Given the description of an element on the screen output the (x, y) to click on. 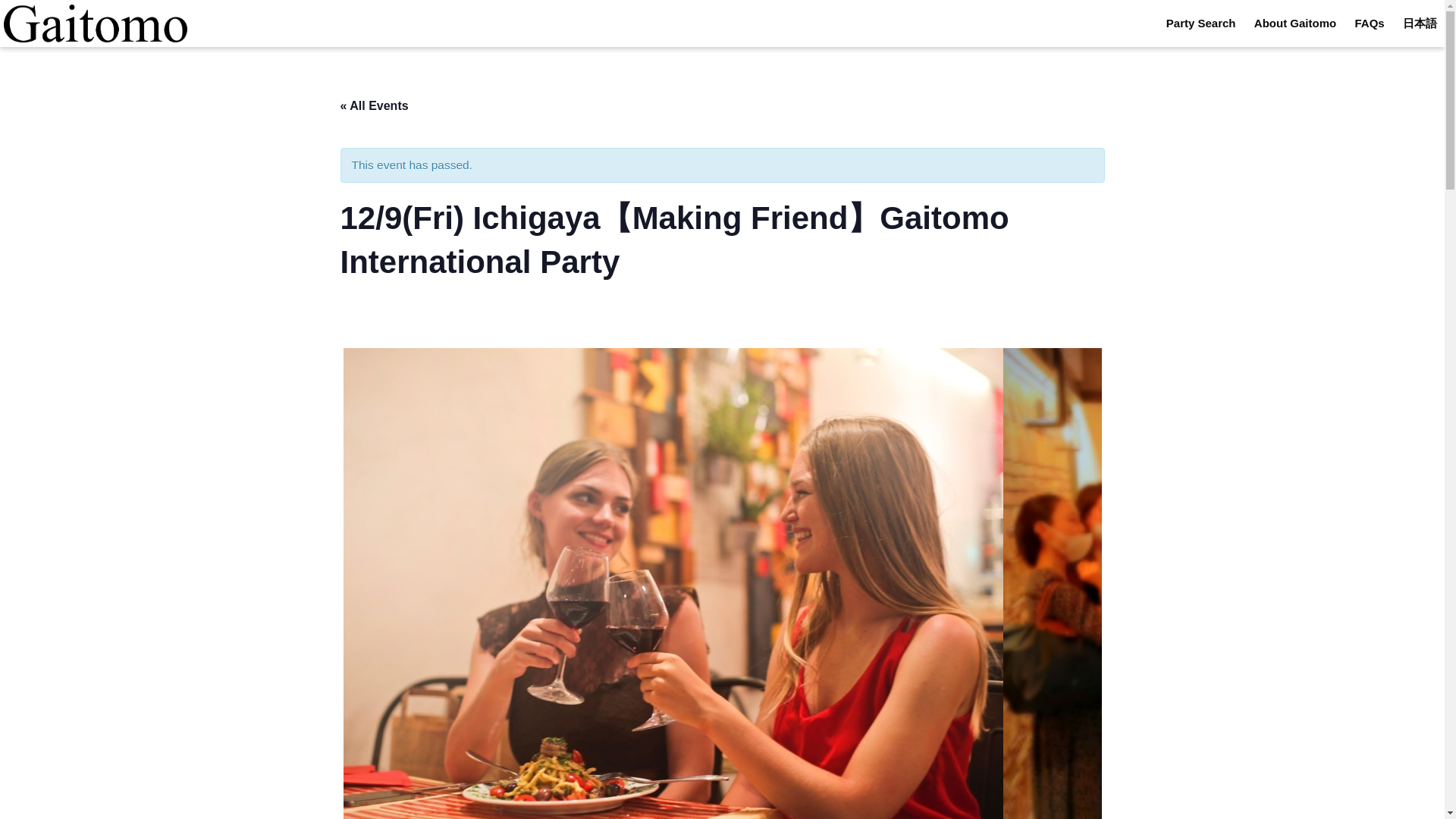
Party Search (1200, 23)
FAQs (1368, 23)
About Gaitomo (1294, 23)
